Given the description of an element on the screen output the (x, y) to click on. 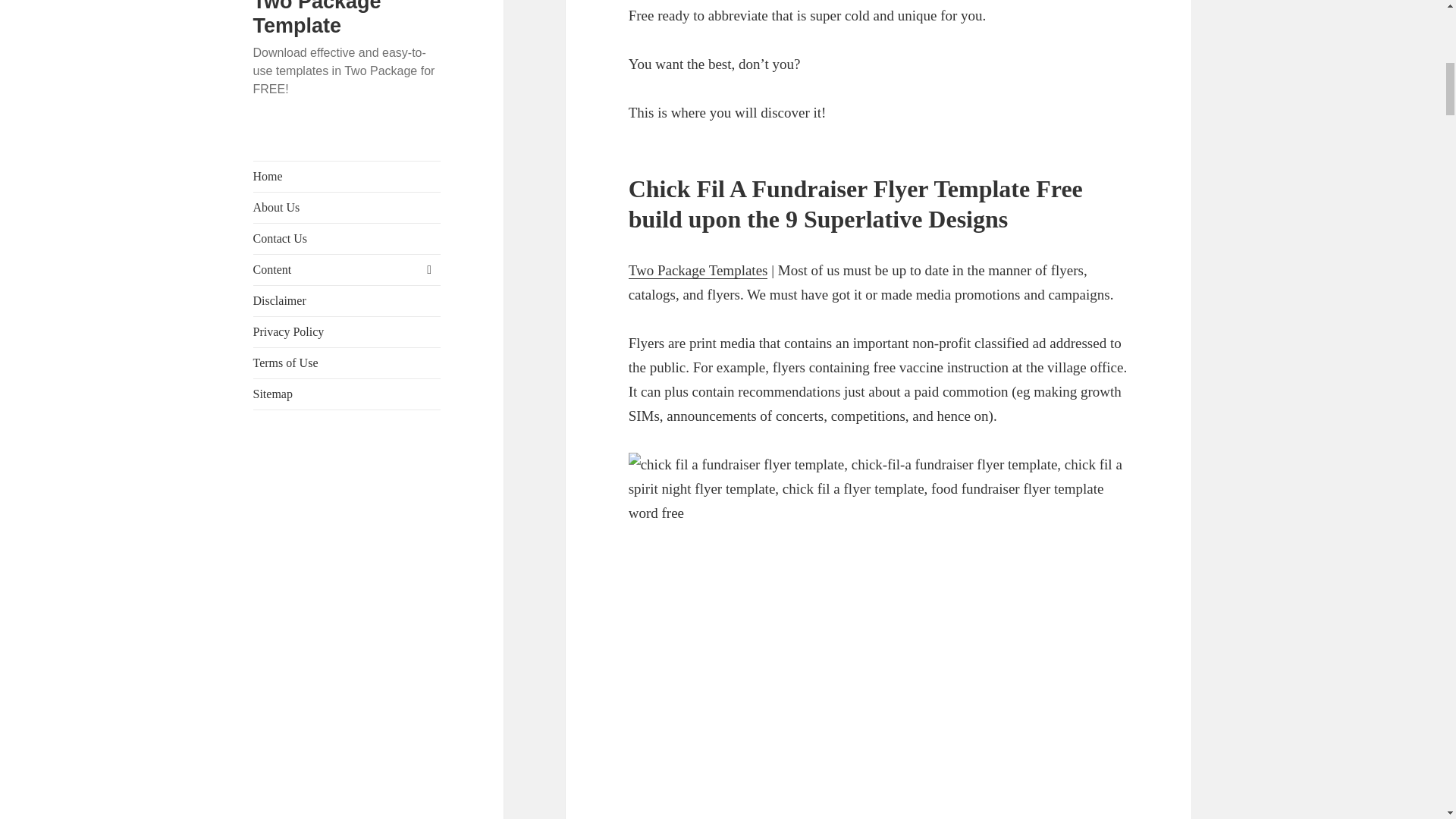
Two Package Templates (698, 270)
